Given the description of an element on the screen output the (x, y) to click on. 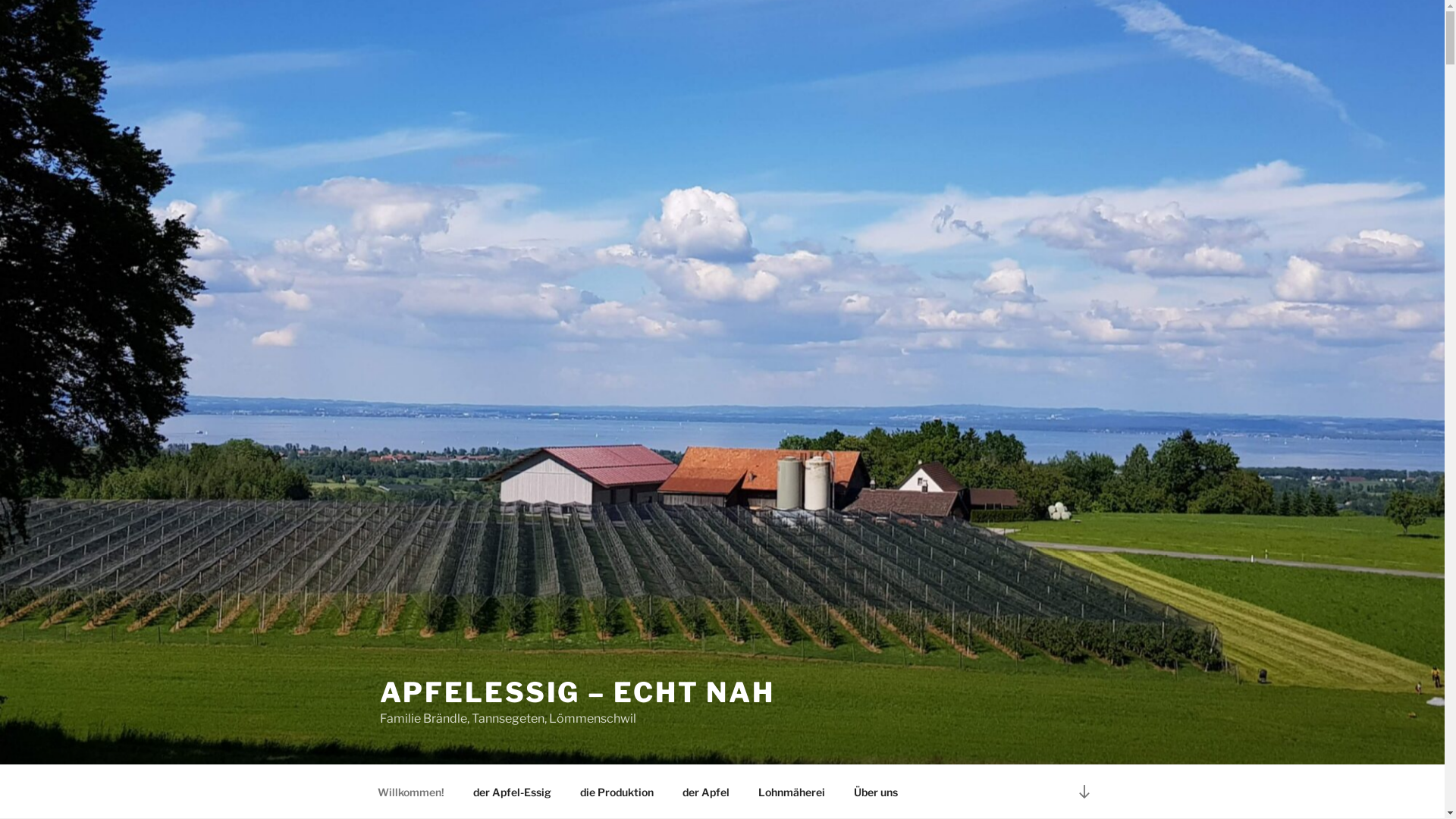
die Produktion Element type: text (617, 791)
der Apfel Element type: text (705, 791)
Zum Inhalt nach unten scrollen Element type: text (1083, 790)
der Apfel-Essig Element type: text (511, 791)
Willkommen! Element type: text (410, 791)
